Given the description of an element on the screen output the (x, y) to click on. 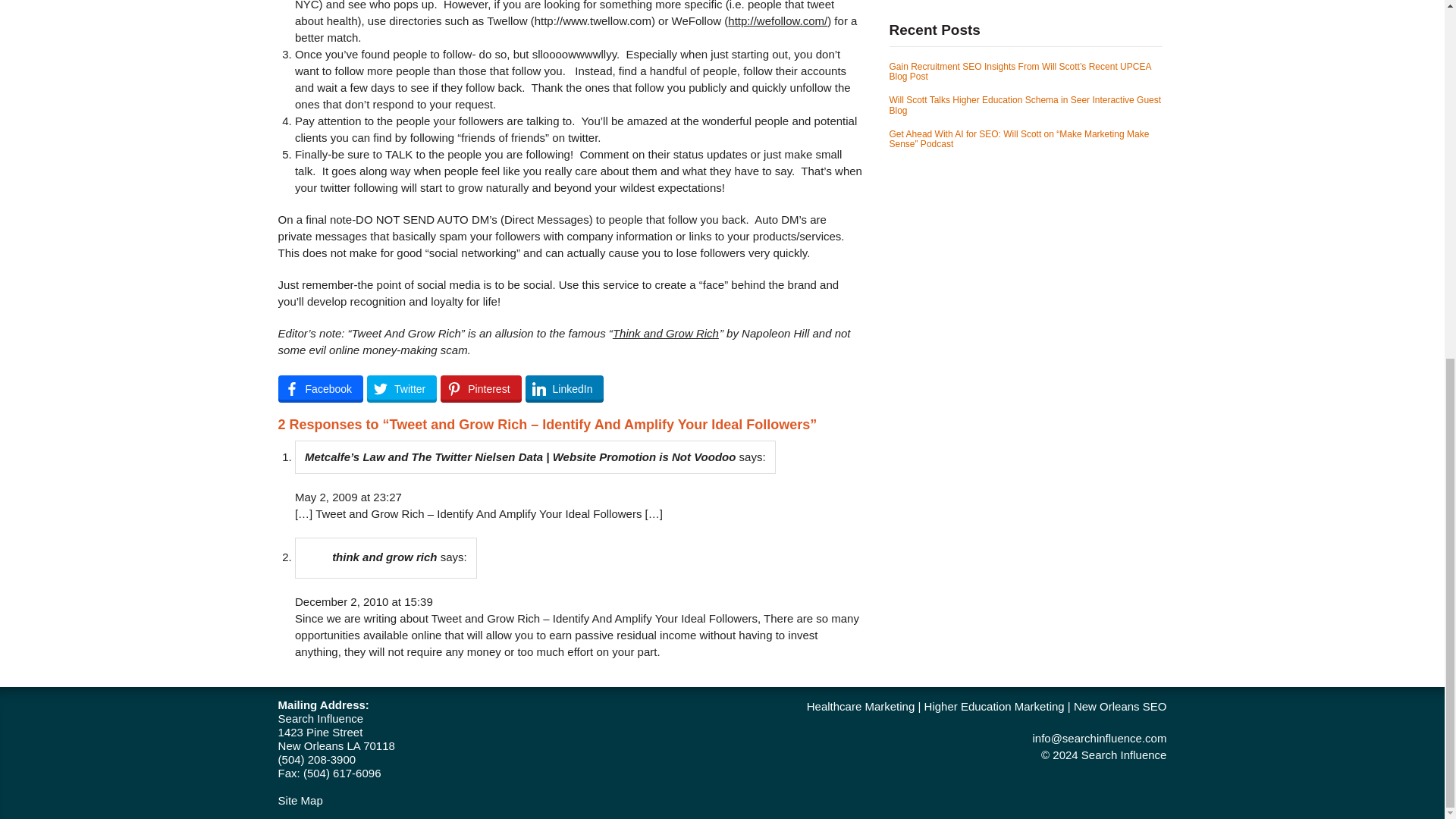
Share on Facebook (320, 388)
Share on LinkedIn (564, 388)
Site Map (300, 799)
Share on Pinterest (481, 388)
Share on Twitter (401, 388)
